Given the description of an element on the screen output the (x, y) to click on. 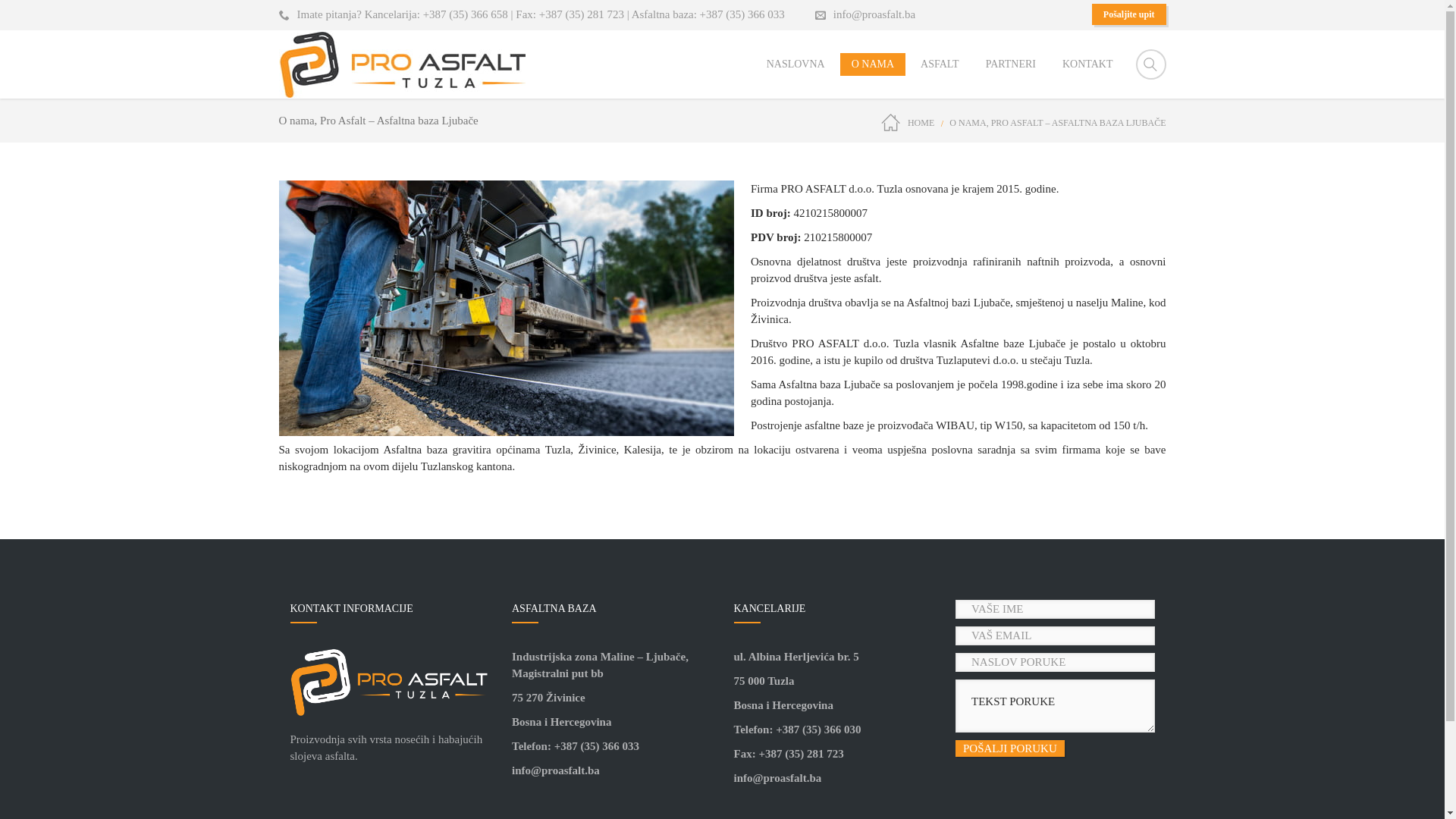
O NAMA Element type: text (872, 64)
KONTAKT Element type: text (1087, 64)
Pro Asfalt Tuzla Element type: hover (402, 64)
HOME Element type: text (907, 122)
PARTNERI Element type: text (1010, 64)
NASLOVNA Element type: text (795, 64)
ASFALT Element type: text (939, 64)
